Given the description of an element on the screen output the (x, y) to click on. 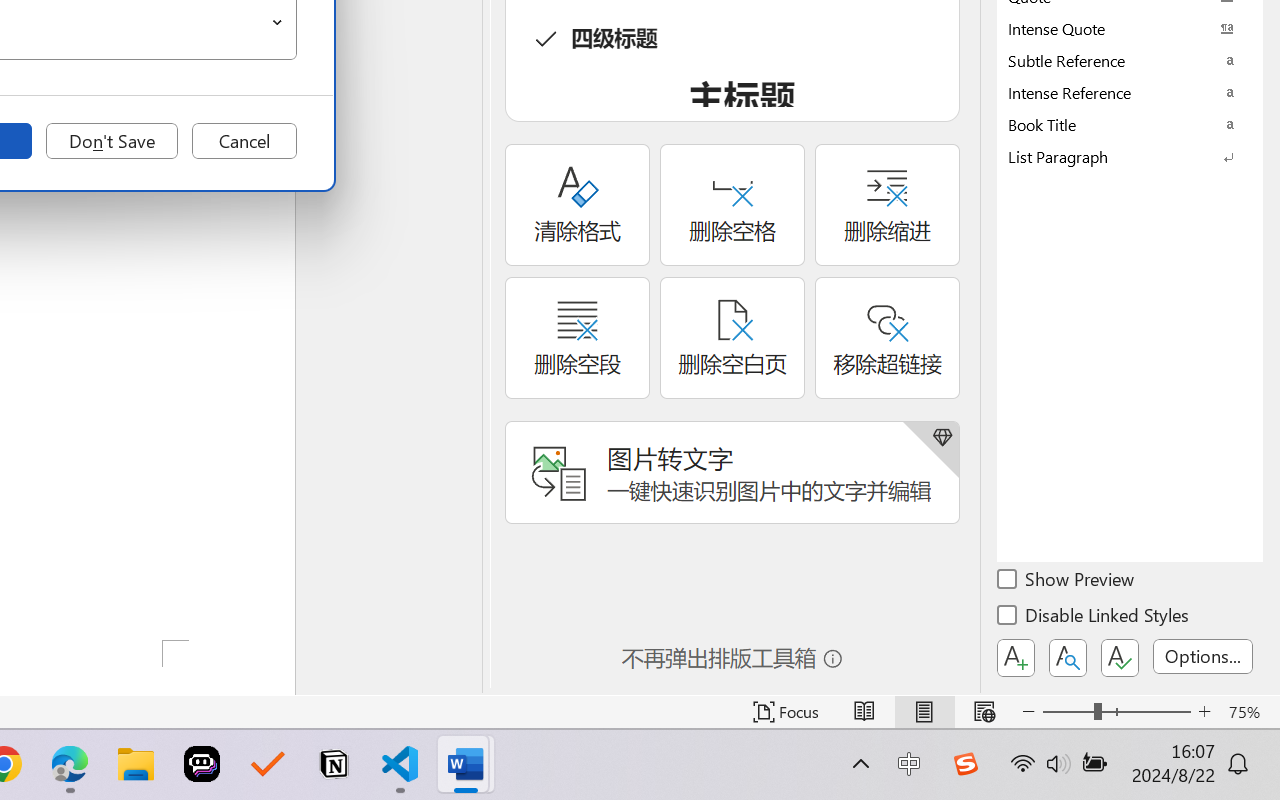
Intense Quote (1130, 28)
Cancel (244, 141)
Poe (201, 764)
Don't Save (111, 141)
Zoom In (1204, 712)
Zoom Out (1067, 712)
